Given the description of an element on the screen output the (x, y) to click on. 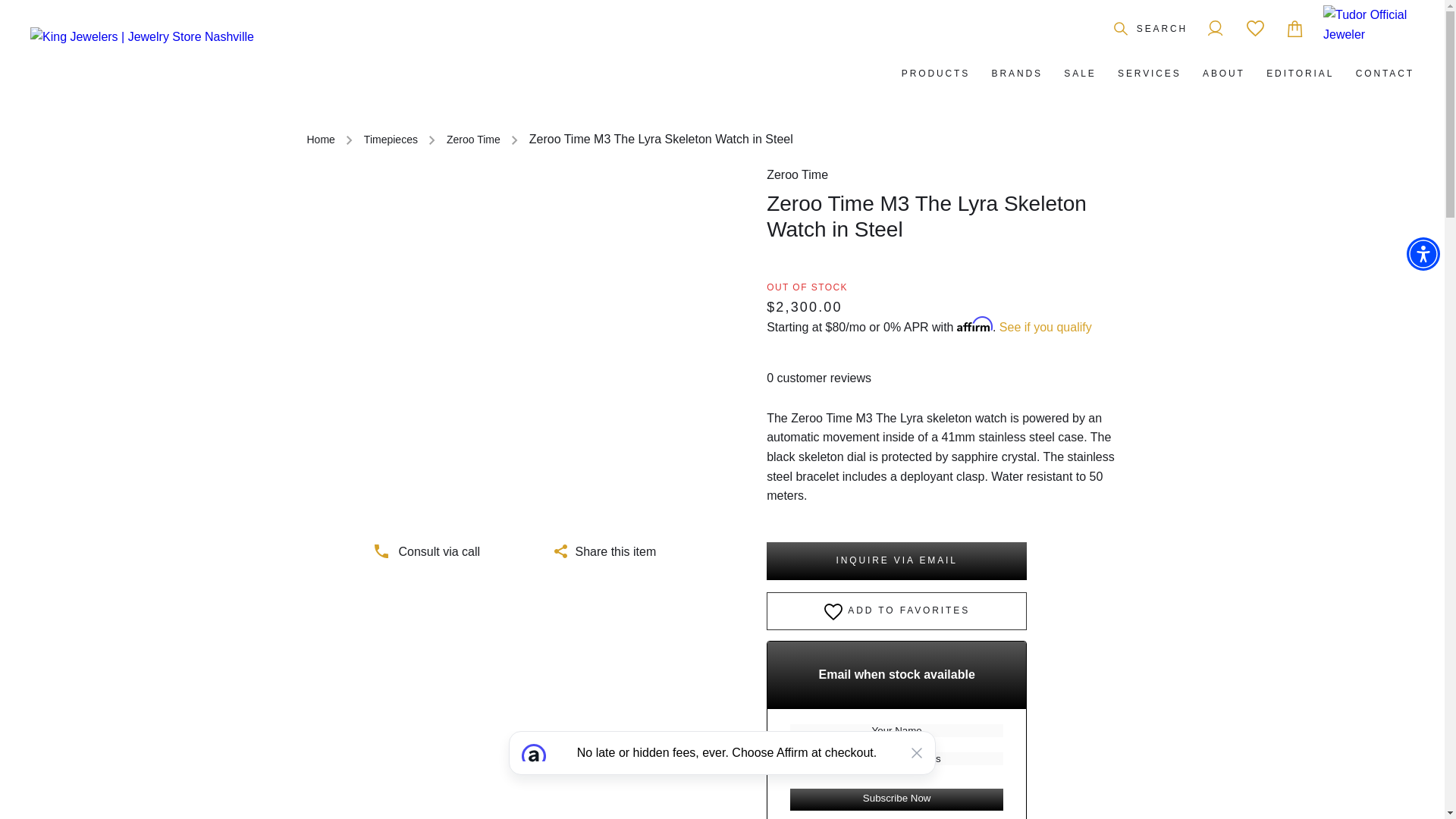
Accessibility Menu (1422, 254)
Affirm (721, 775)
Subscribe Now (896, 799)
